Given the description of an element on the screen output the (x, y) to click on. 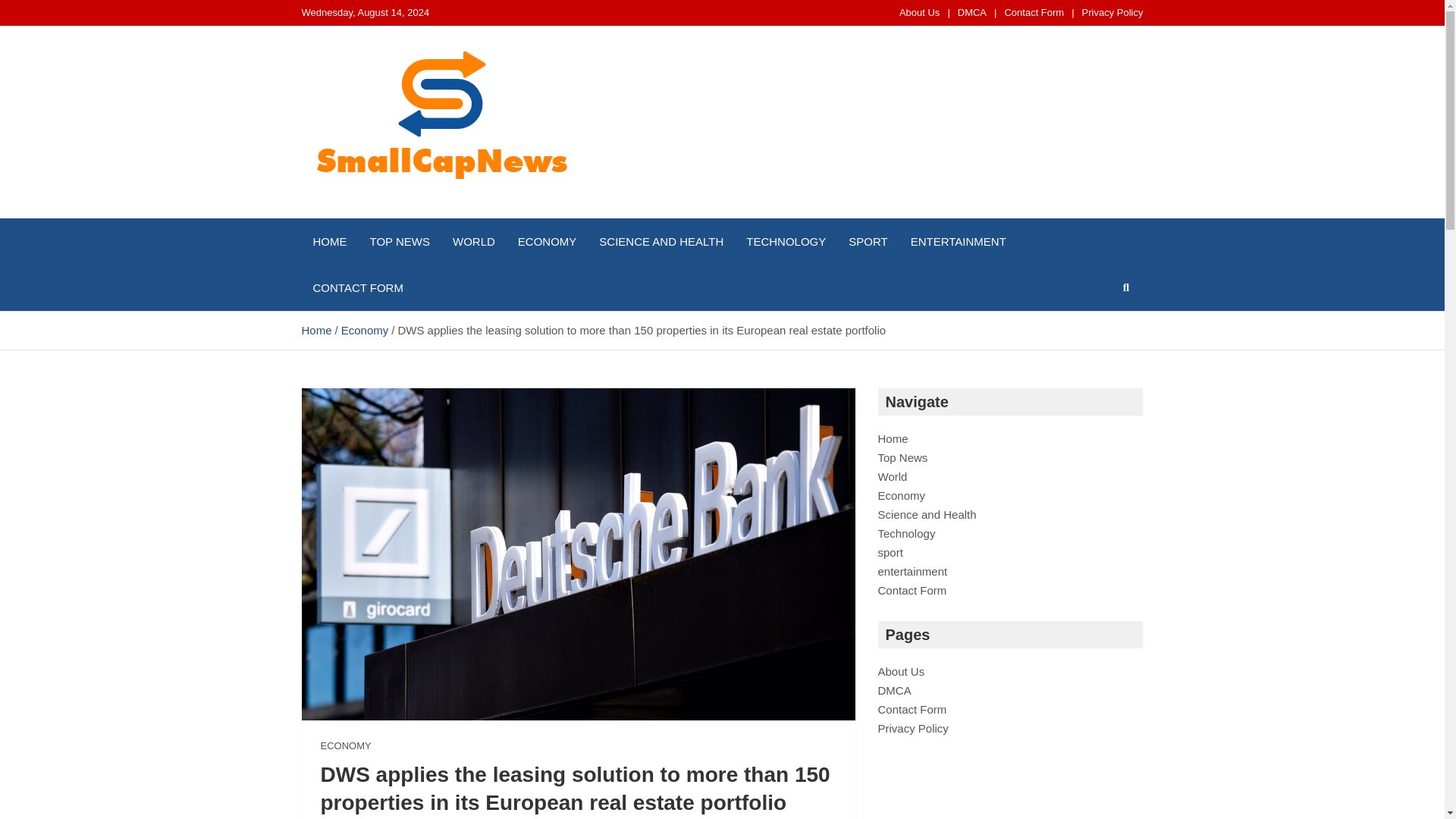
TECHNOLOGY (786, 241)
Science and Health (926, 513)
Economy (364, 329)
ECONOMY (547, 241)
TOP NEWS (399, 241)
DMCA (972, 12)
Privacy Policy (1111, 12)
sport (889, 552)
CONTACT FORM (357, 287)
ECONOMY (345, 745)
